Given the description of an element on the screen output the (x, y) to click on. 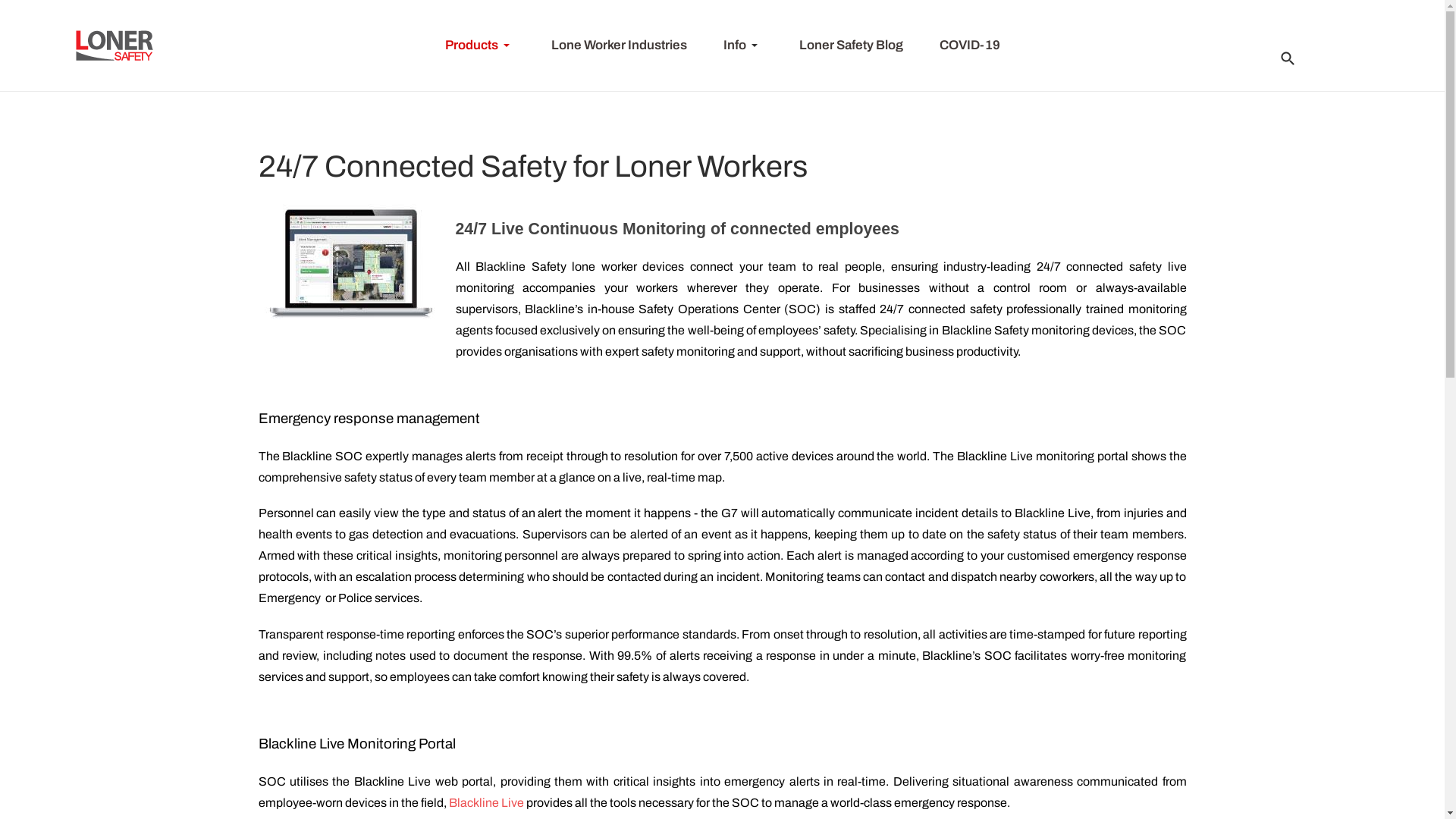
Products Element type: text (479, 45)
Lone Worker Service Plan from Blackline Safety Element type: hover (348, 265)
Blackline Live Element type: text (486, 802)
Loner Safety Blog Element type: text (851, 45)
Info Element type: text (743, 45)
Loner Safety Element type: hover (114, 45)
COVID-19 Element type: text (968, 45)
Lone Worker Industries Element type: text (618, 45)
